Given the description of an element on the screen output the (x, y) to click on. 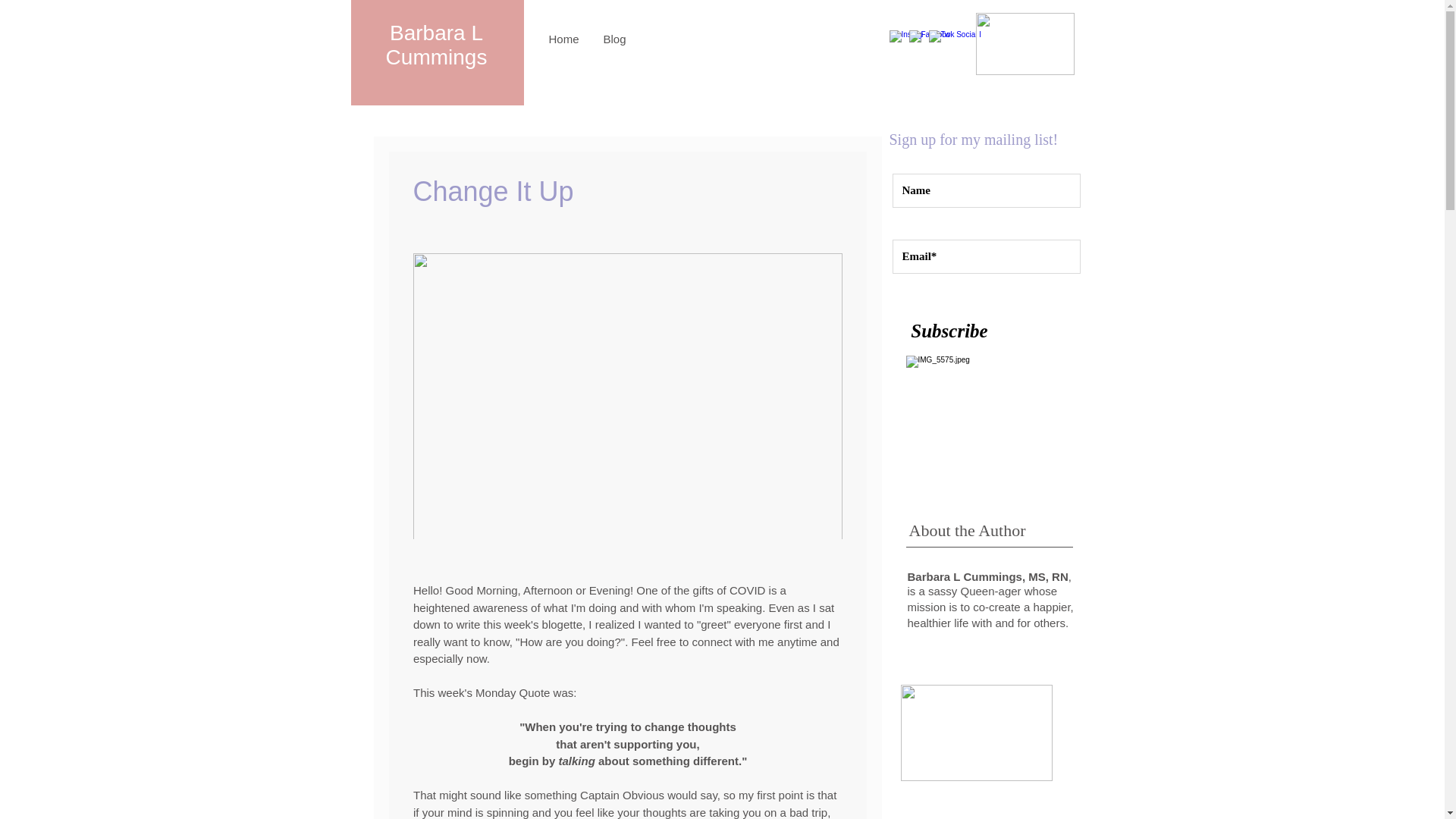
Blog (614, 38)
Subscribe (949, 330)
Barbara L Cummings (436, 44)
Home (564, 38)
